Given the description of an element on the screen output the (x, y) to click on. 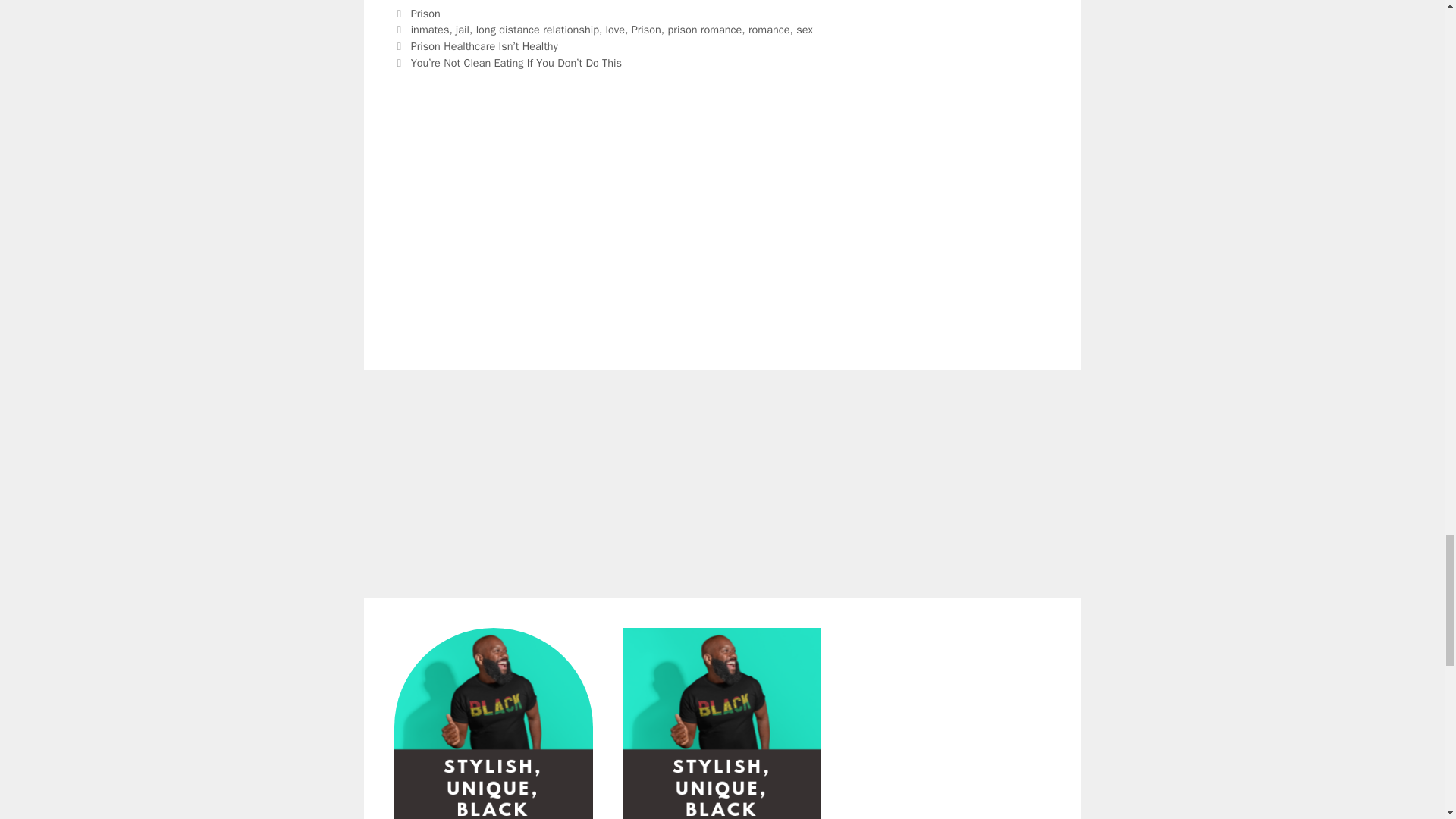
jail (461, 29)
sex (804, 29)
romance (769, 29)
inmates (429, 29)
prison romance (705, 29)
Prison (425, 13)
long distance relationship (537, 29)
love (614, 29)
Prison (646, 29)
